Given the description of an element on the screen output the (x, y) to click on. 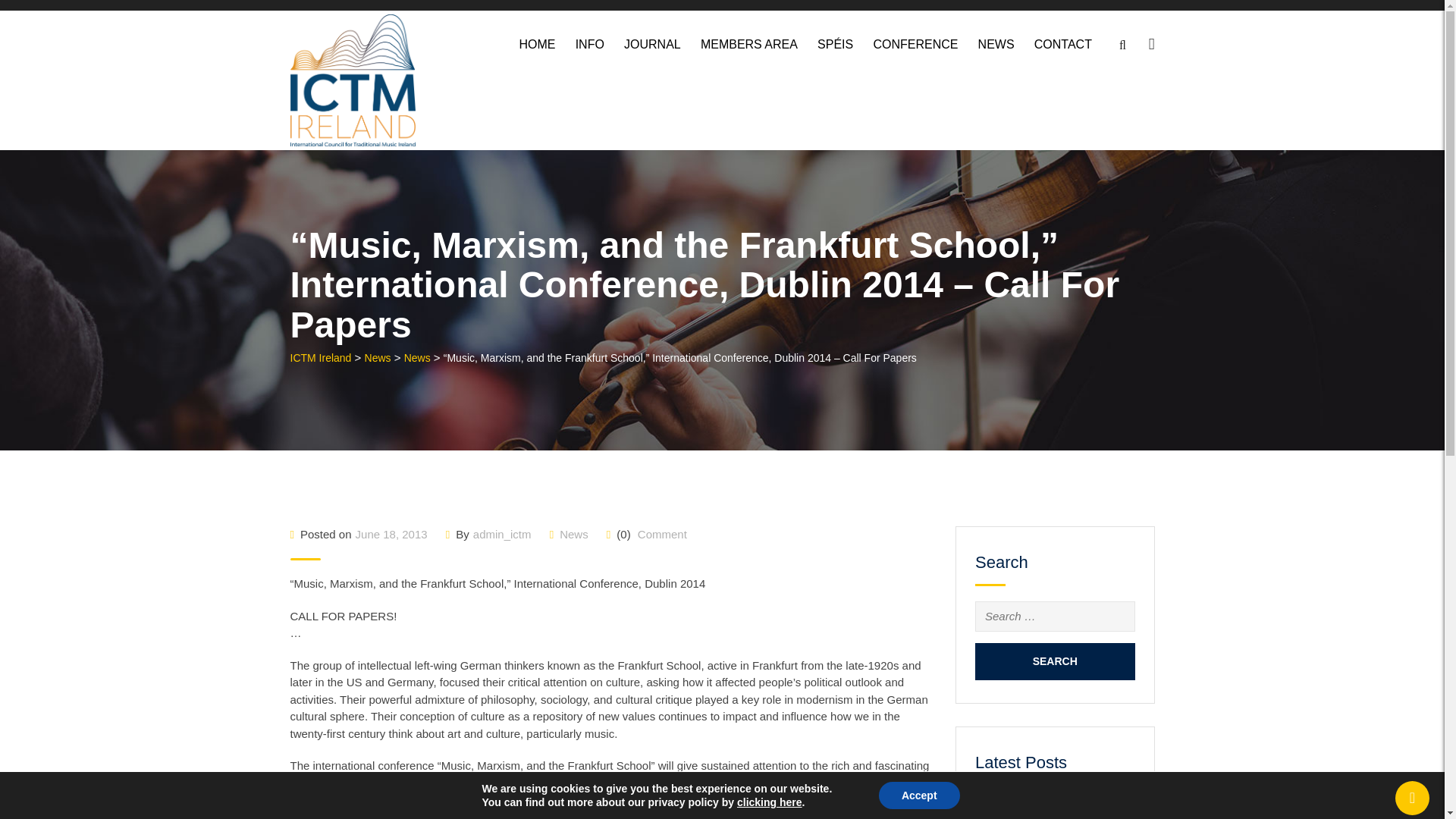
MEMBERS AREA (749, 44)
Go to the News Category archives. (417, 357)
HOME (537, 44)
Go to News. (378, 357)
Search (1055, 661)
INFO (589, 44)
CONFERENCE (915, 44)
Go to ICTM Ireland. (319, 357)
Search (1055, 661)
JOURNAL (651, 44)
